Given the description of an element on the screen output the (x, y) to click on. 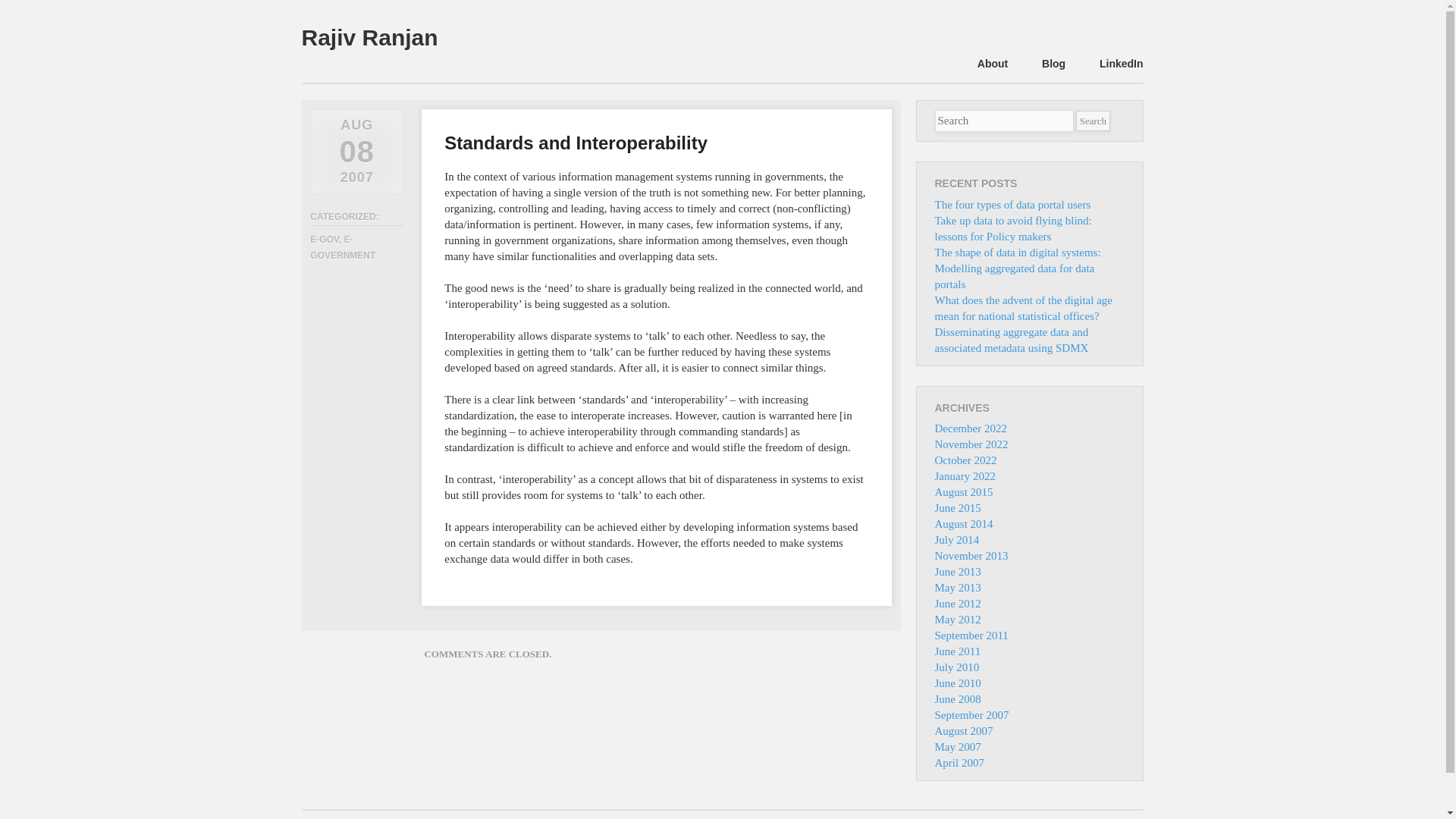
June 2015 (956, 508)
June 2012 (956, 603)
About (991, 64)
August 2014 (963, 523)
August 2015 (963, 491)
September 2011 (970, 635)
December 2022 (970, 428)
July 2010 (956, 666)
LinkedIn (1120, 64)
Rajiv Ranjan (369, 36)
E-GOVERNMENT (342, 247)
The four types of data portal users (1012, 204)
October 2022 (964, 460)
April 2007 (959, 762)
